Given the description of an element on the screen output the (x, y) to click on. 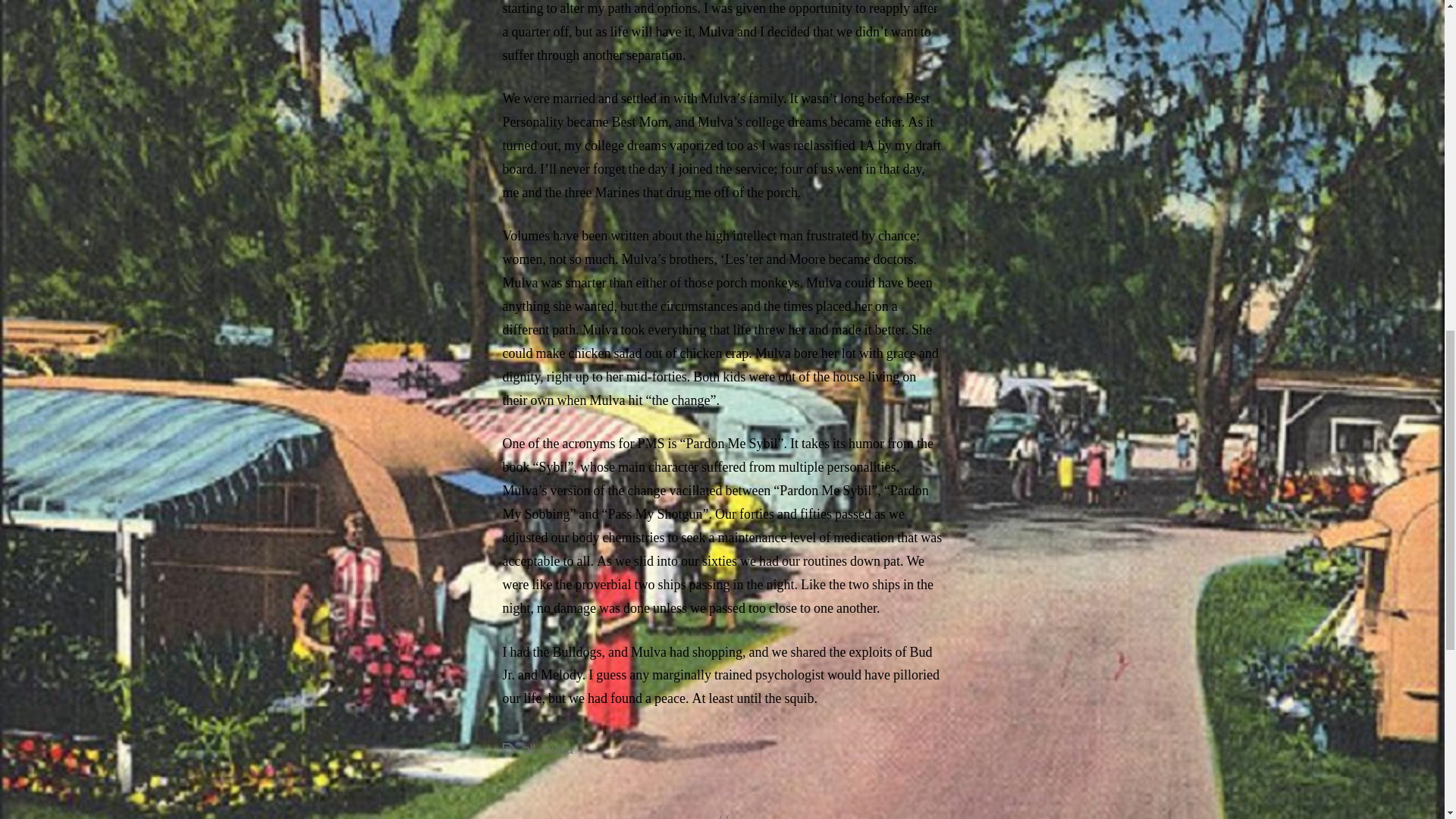
mulva (556, 748)
